Given the description of an element on the screen output the (x, y) to click on. 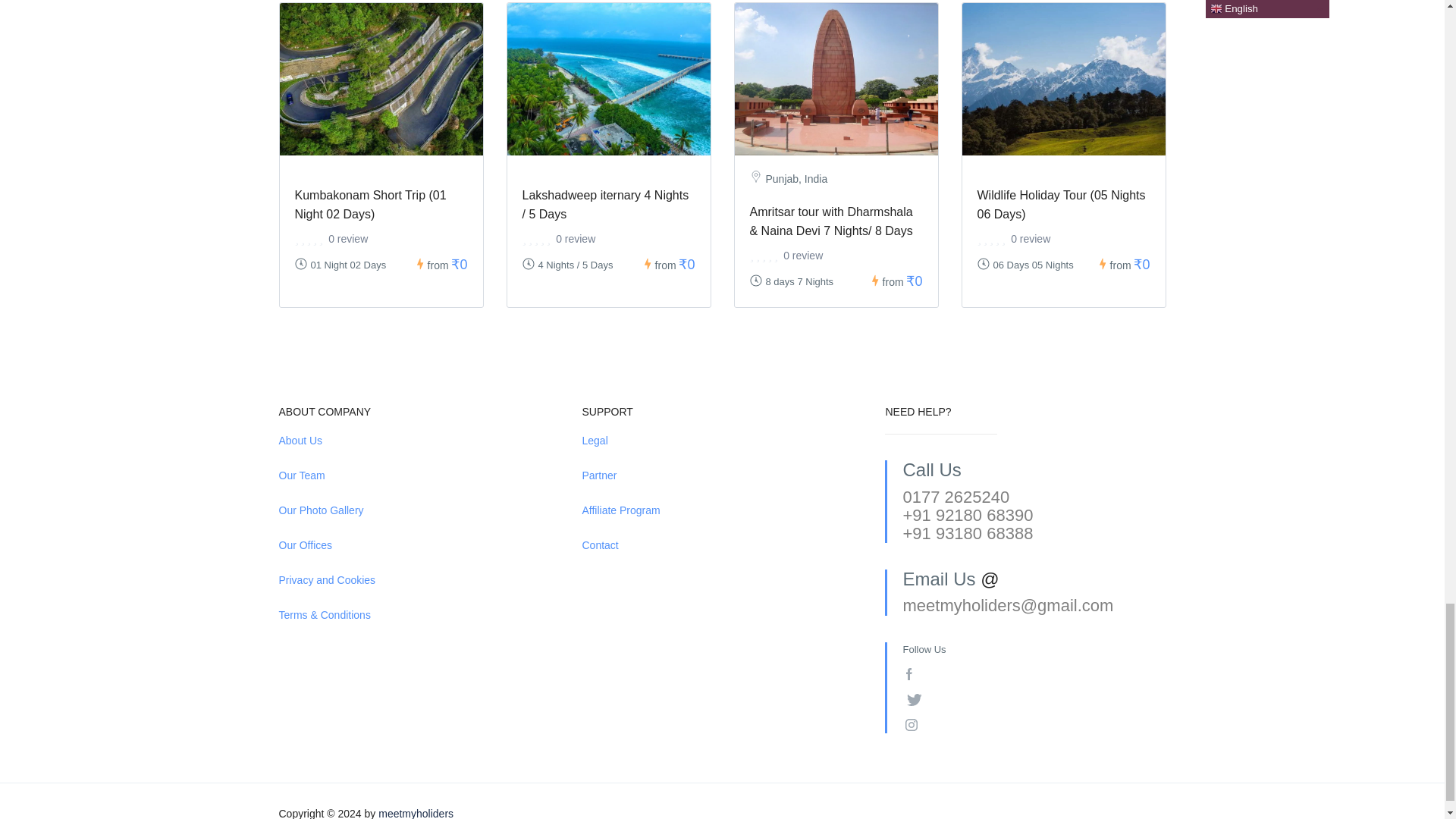
Add to wishlist (462, 27)
Add to wishlist (1145, 27)
Add to wishlist (918, 27)
Add to wishlist (690, 27)
